Given the description of an element on the screen output the (x, y) to click on. 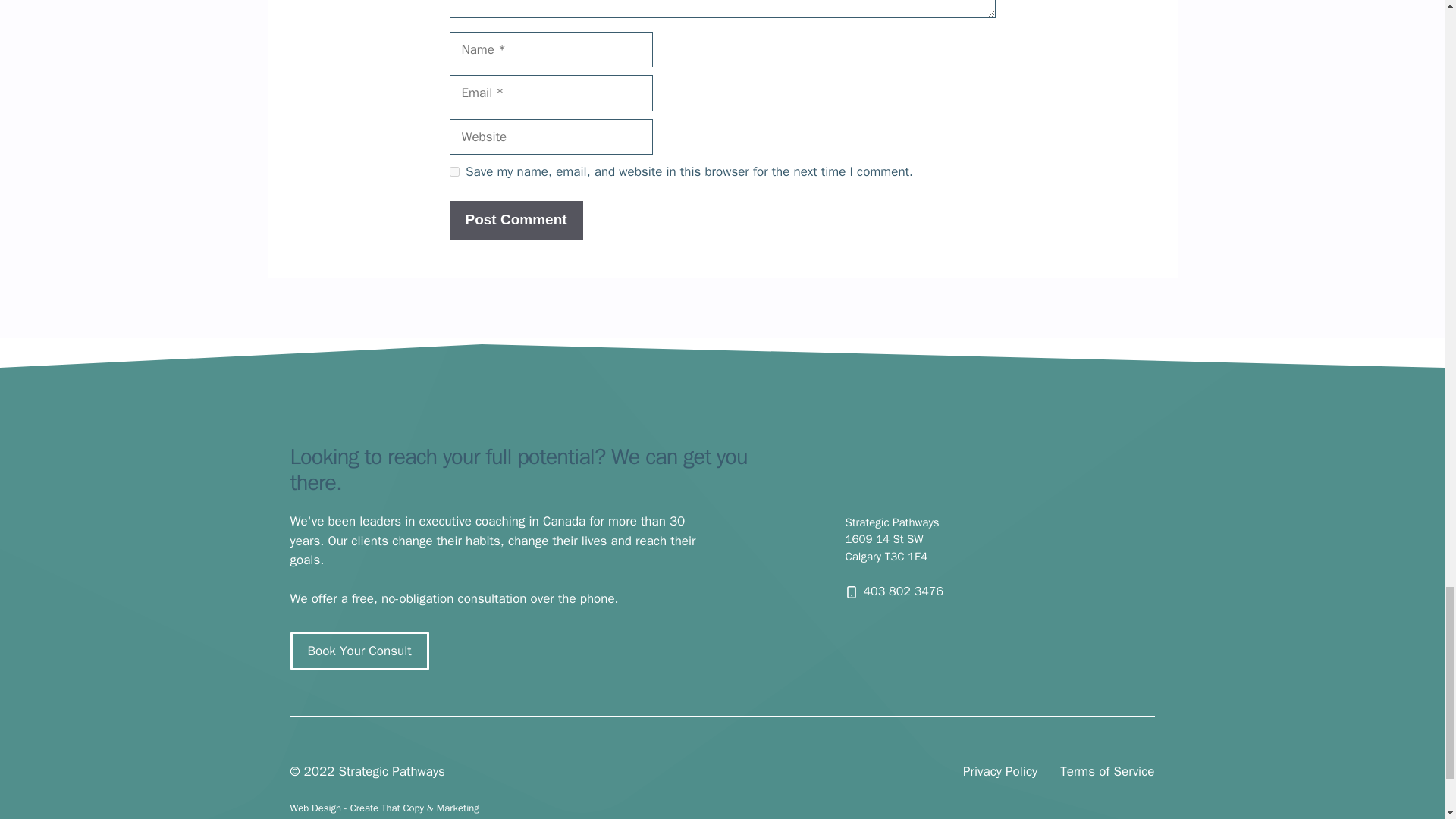
Privacy Policy (999, 772)
yes (453, 171)
403 802 3477 (899, 590)
Terms of Service (1106, 772)
Post Comment (515, 219)
403 802 347 (899, 590)
Post Comment (515, 219)
Book Your Consult (358, 650)
